Given the description of an element on the screen output the (x, y) to click on. 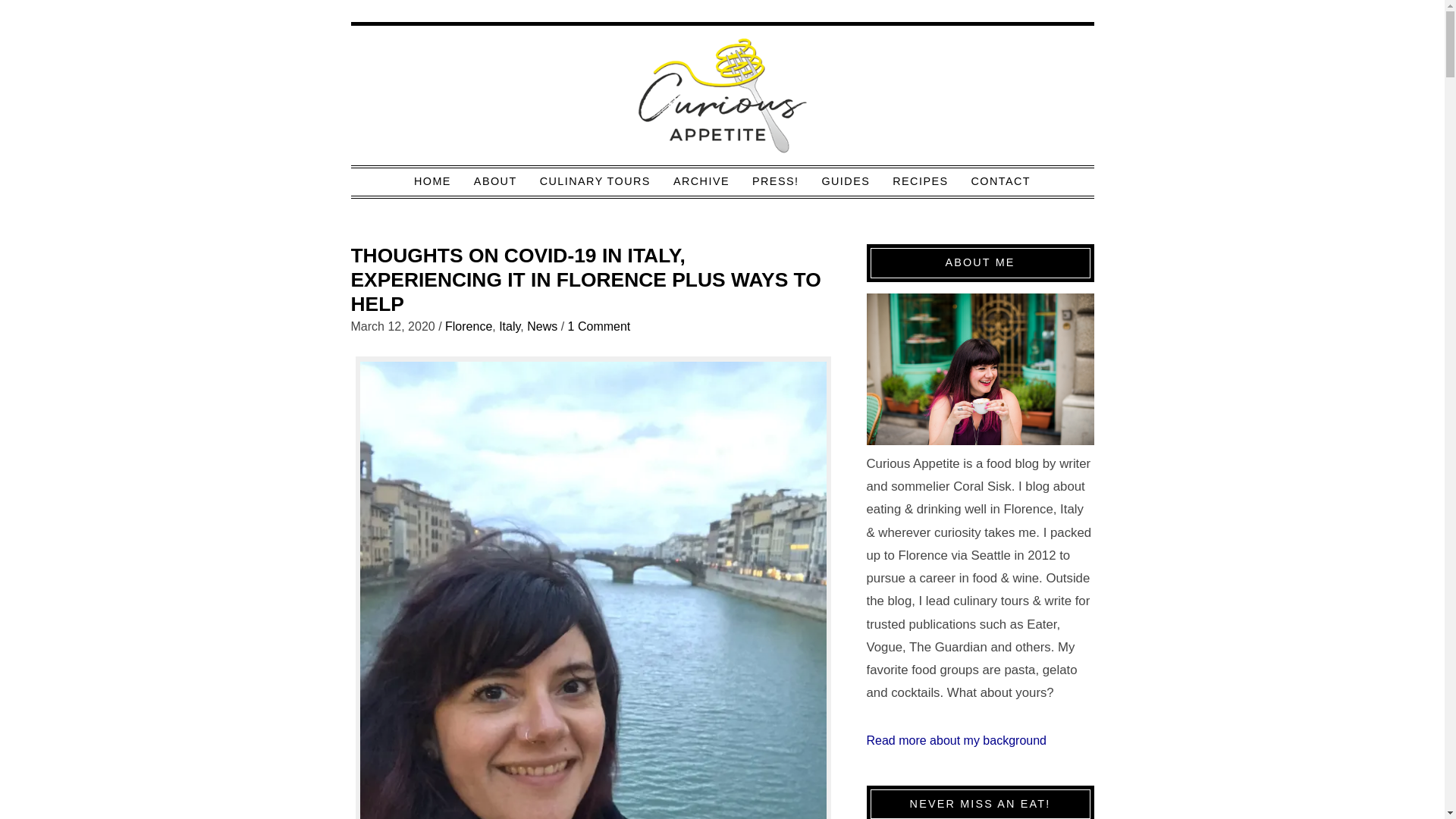
Curious Appetite (721, 96)
ARCHIVE (701, 181)
CONTACT (1000, 181)
GUIDES (844, 181)
RECIPES (919, 181)
1 Comment (598, 326)
Italy (509, 326)
HOME (433, 181)
ABOUT (495, 181)
